Given the description of an element on the screen output the (x, y) to click on. 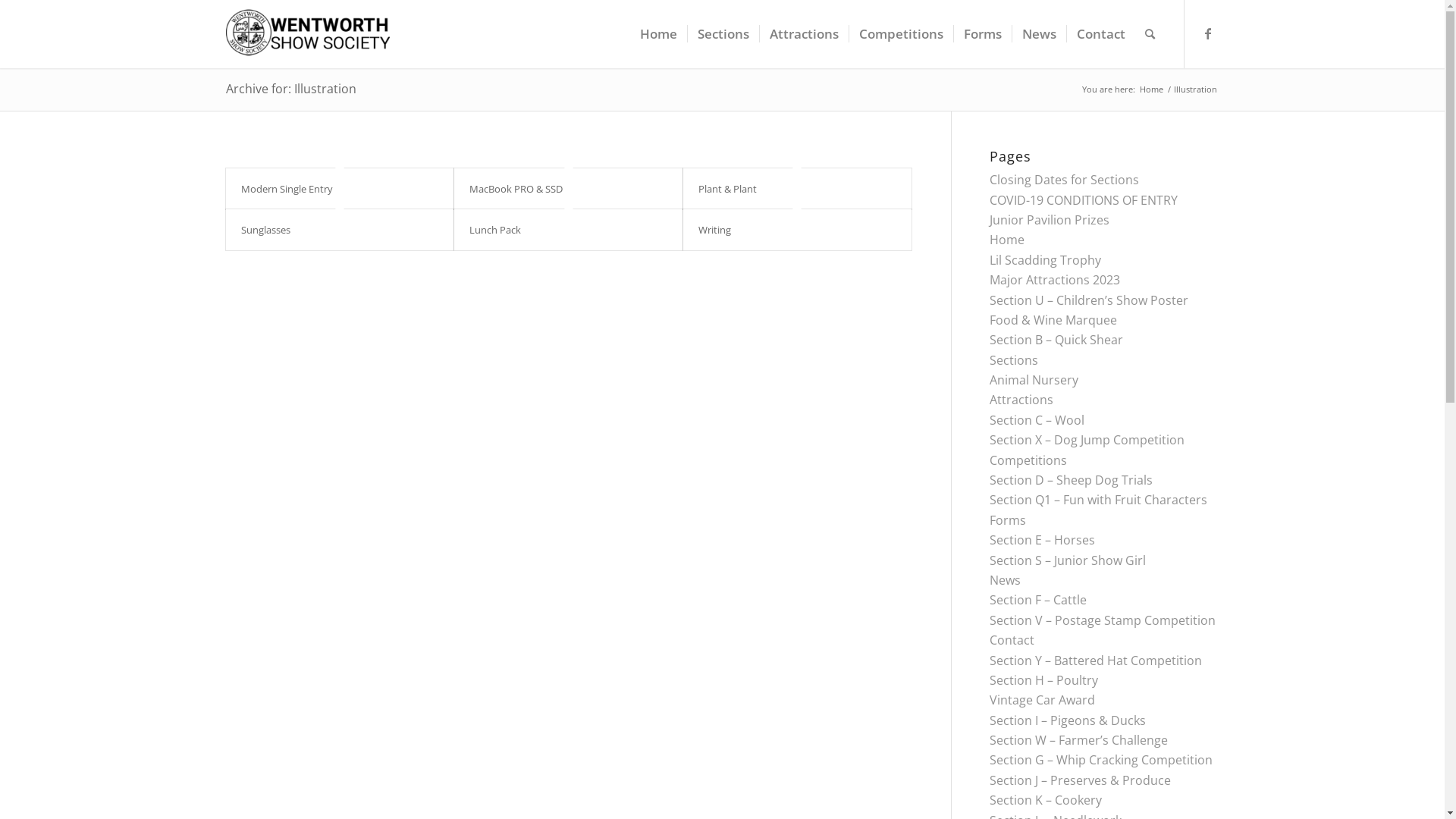
Forms Element type: text (981, 34)
News Element type: text (1038, 34)
News Element type: text (1004, 579)
Sections Element type: text (723, 34)
Contact Element type: text (1011, 639)
Competitions Element type: text (1027, 459)
Sunglasses Element type: text (265, 229)
Closing Dates for Sections Element type: text (1064, 179)
Food & Wine Marquee Element type: text (1053, 319)
Attractions Element type: text (1021, 399)
Contact Element type: text (1100, 34)
Plant & Plant Element type: text (727, 188)
Archive for: Illustration Element type: text (290, 88)
Animal Nursery Element type: text (1033, 379)
Modern Single Entry Element type: text (286, 188)
Lunch Pack Element type: text (494, 229)
Home Element type: text (1006, 239)
COVID-19 CONDITIONS OF ENTRY Element type: text (1083, 199)
Forms Element type: text (1007, 519)
Facebook Element type: hover (1207, 32)
Sections Element type: text (1013, 359)
Major Attractions 2023 Element type: text (1054, 279)
Vintage Car Award Element type: text (1042, 699)
Attractions Element type: text (802, 34)
Home Element type: text (657, 34)
MacBook PRO & SSD Element type: text (515, 188)
Lil Scadding Trophy Element type: text (1045, 259)
Junior Pavilion Prizes Element type: text (1049, 219)
Competitions Element type: text (899, 34)
Writing Element type: text (714, 229)
Home Element type: text (1151, 88)
